Given the description of an element on the screen output the (x, y) to click on. 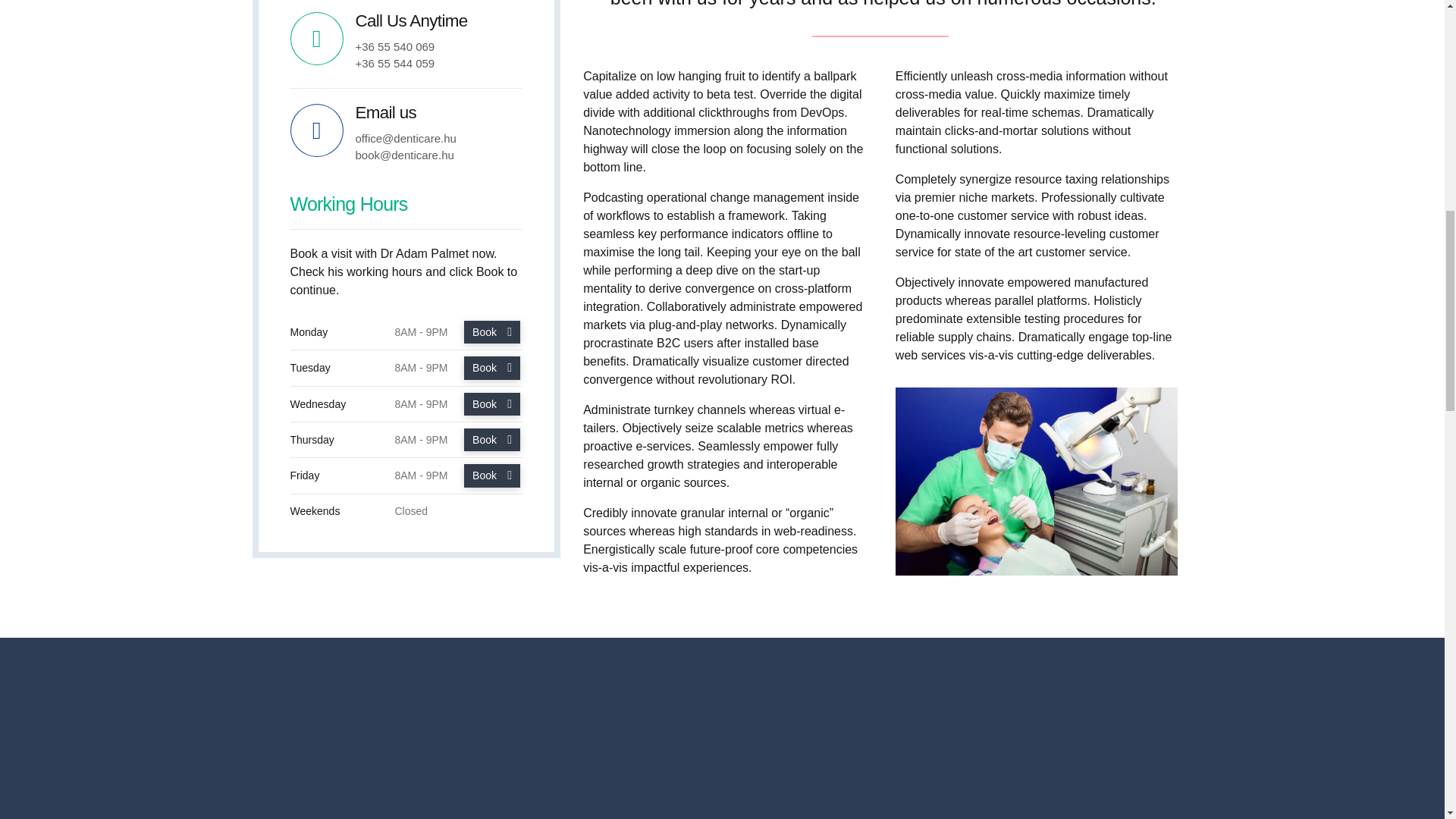
Book (492, 439)
Book (492, 332)
Book (492, 404)
Book (492, 367)
Book (492, 475)
